Given the description of an element on the screen output the (x, y) to click on. 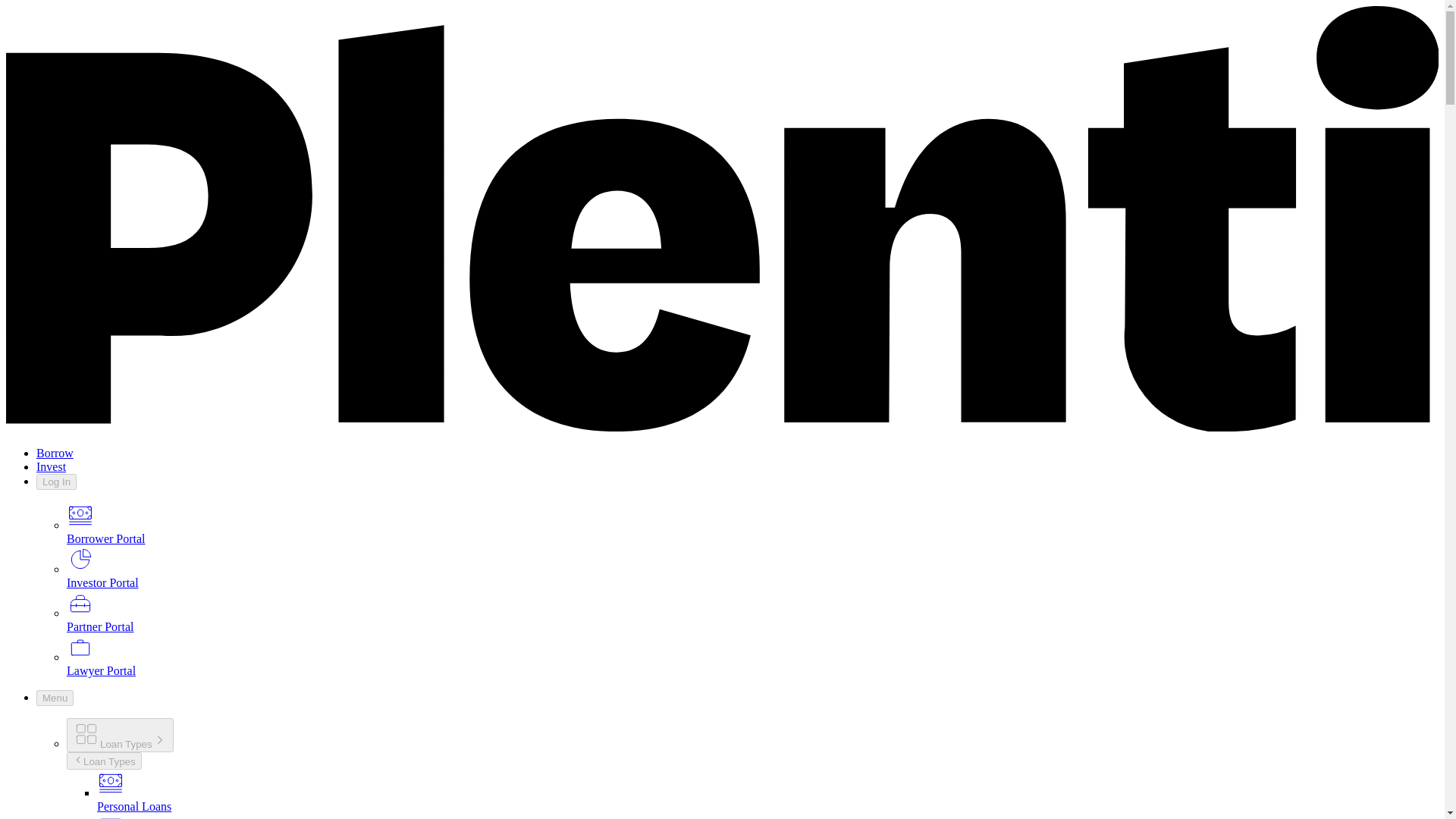
Loan Types (119, 735)
Invest (50, 466)
Menu (55, 697)
Borrow (55, 452)
Log In (56, 481)
Loan Types (103, 760)
